Given the description of an element on the screen output the (x, y) to click on. 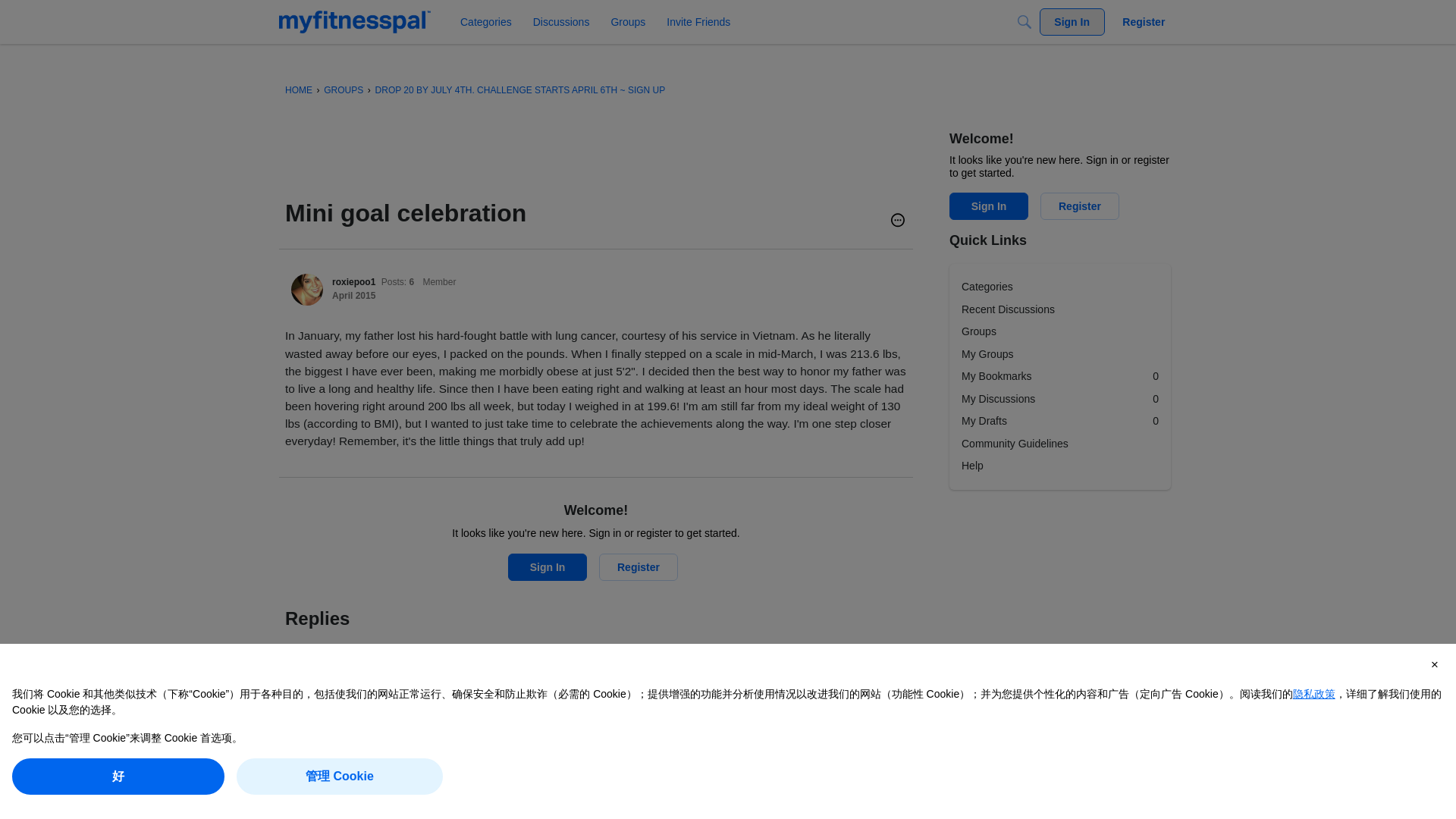
Sign In (547, 566)
Register (638, 566)
Groups (627, 22)
HOME (299, 90)
Categories (486, 22)
roxiepoo1 (307, 289)
Sign In (1072, 22)
April 2015 (359, 714)
Brans34 (355, 698)
roxiepoo1 (353, 281)
